Given the description of an element on the screen output the (x, y) to click on. 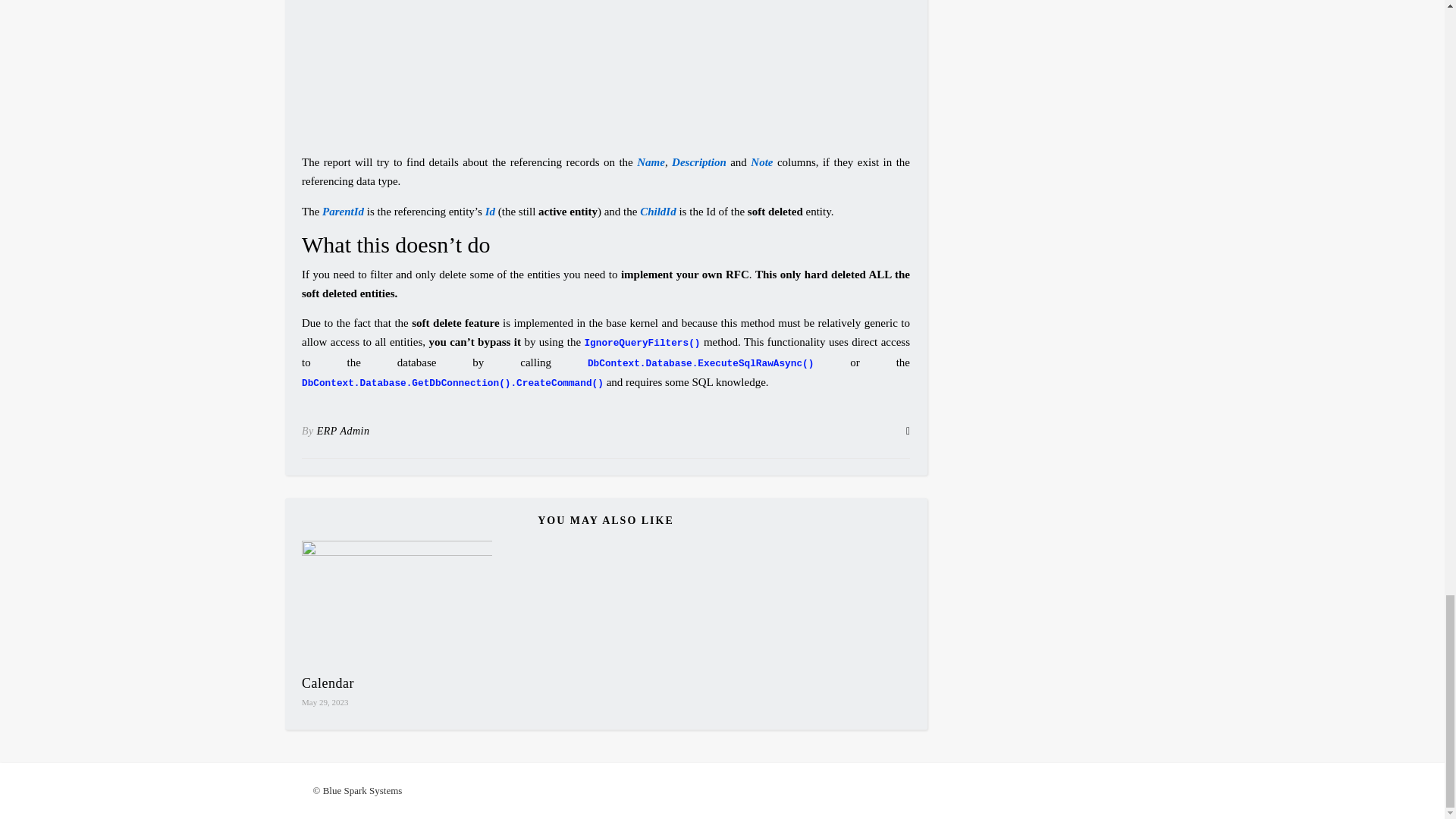
Posts by ERP Admin (343, 431)
